Given the description of an element on the screen output the (x, y) to click on. 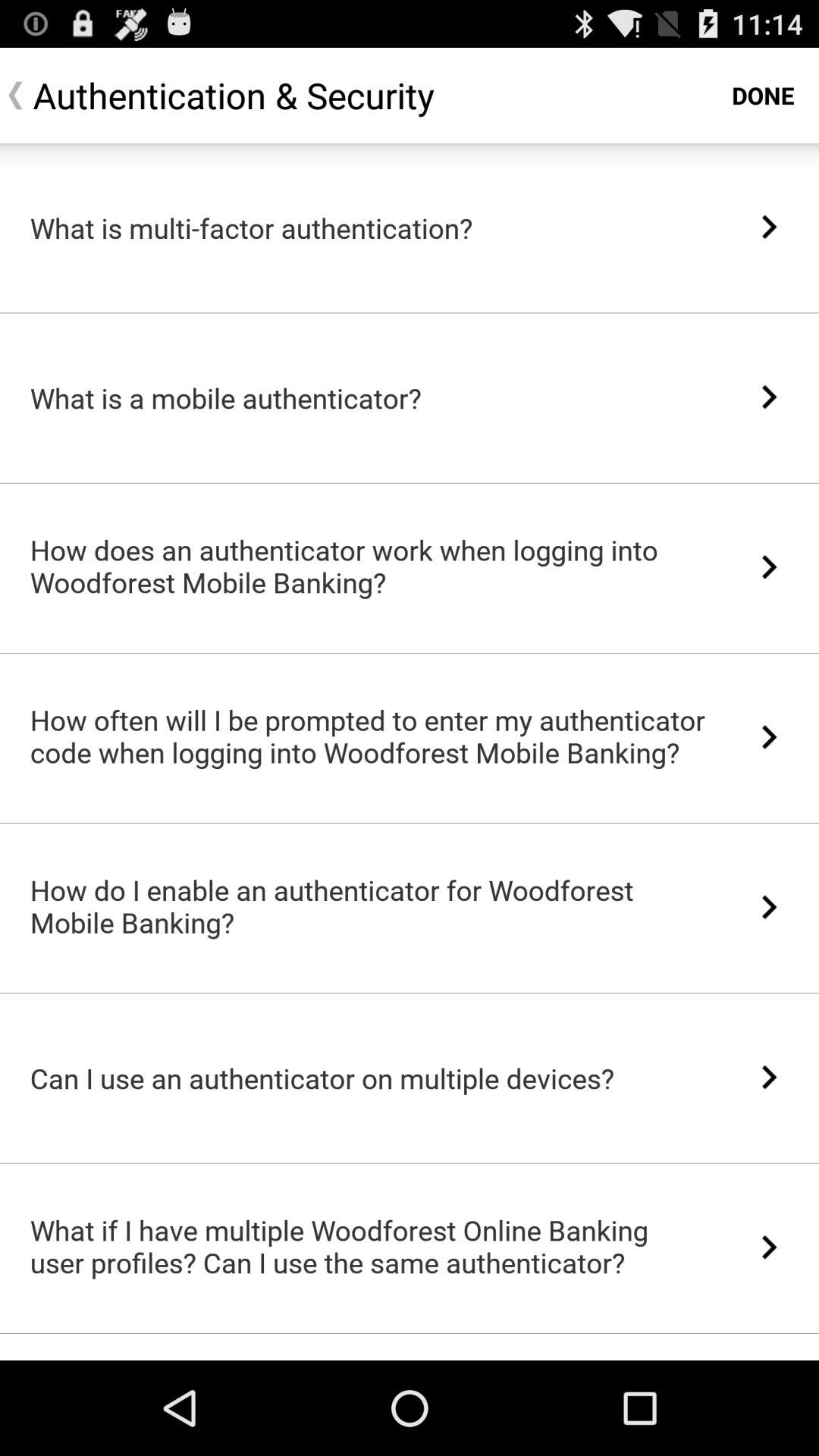
open the icon above how does an (409, 482)
